Given the description of an element on the screen output the (x, y) to click on. 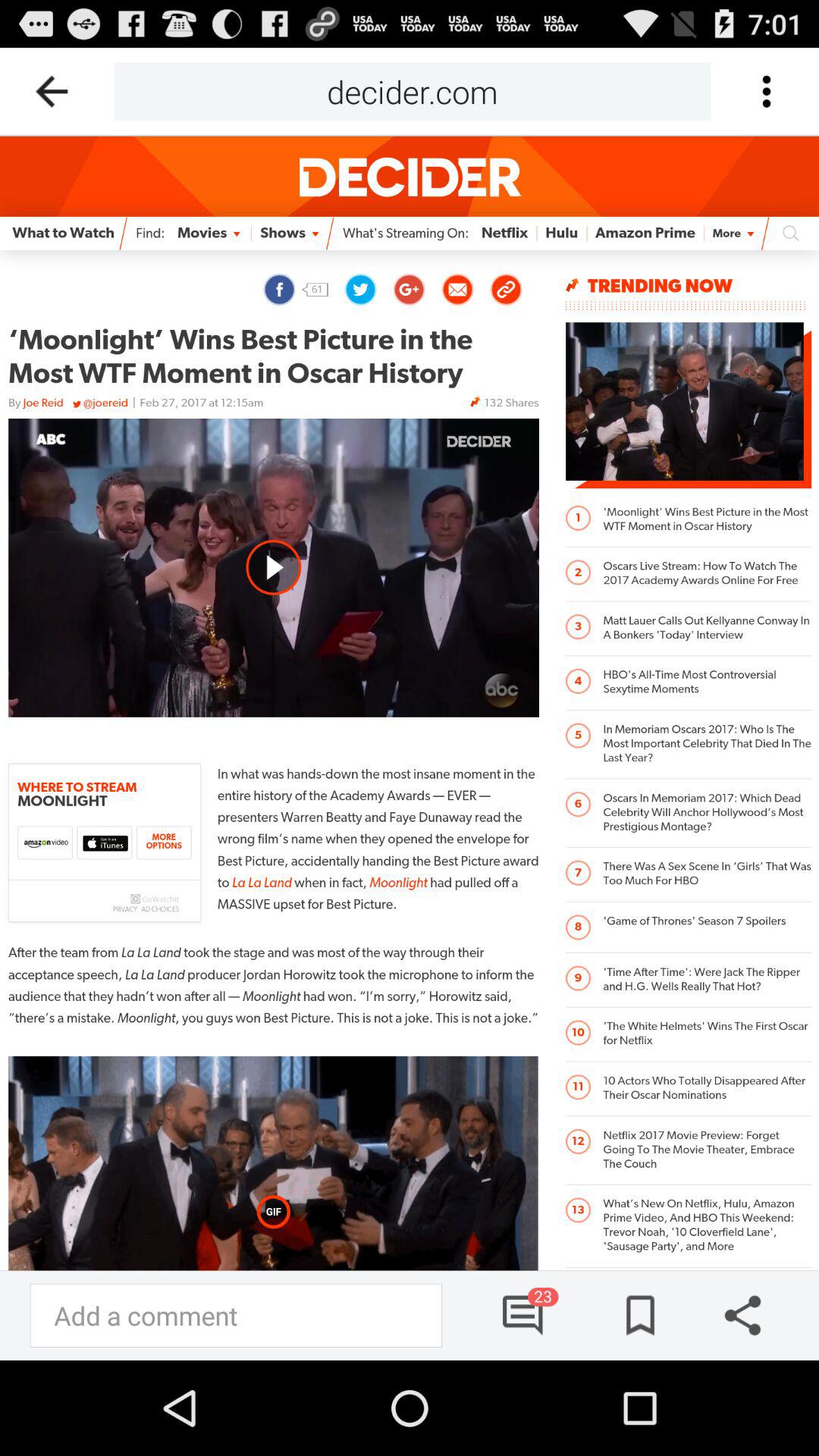
save post icon (635, 1315)
